Given the description of an element on the screen output the (x, y) to click on. 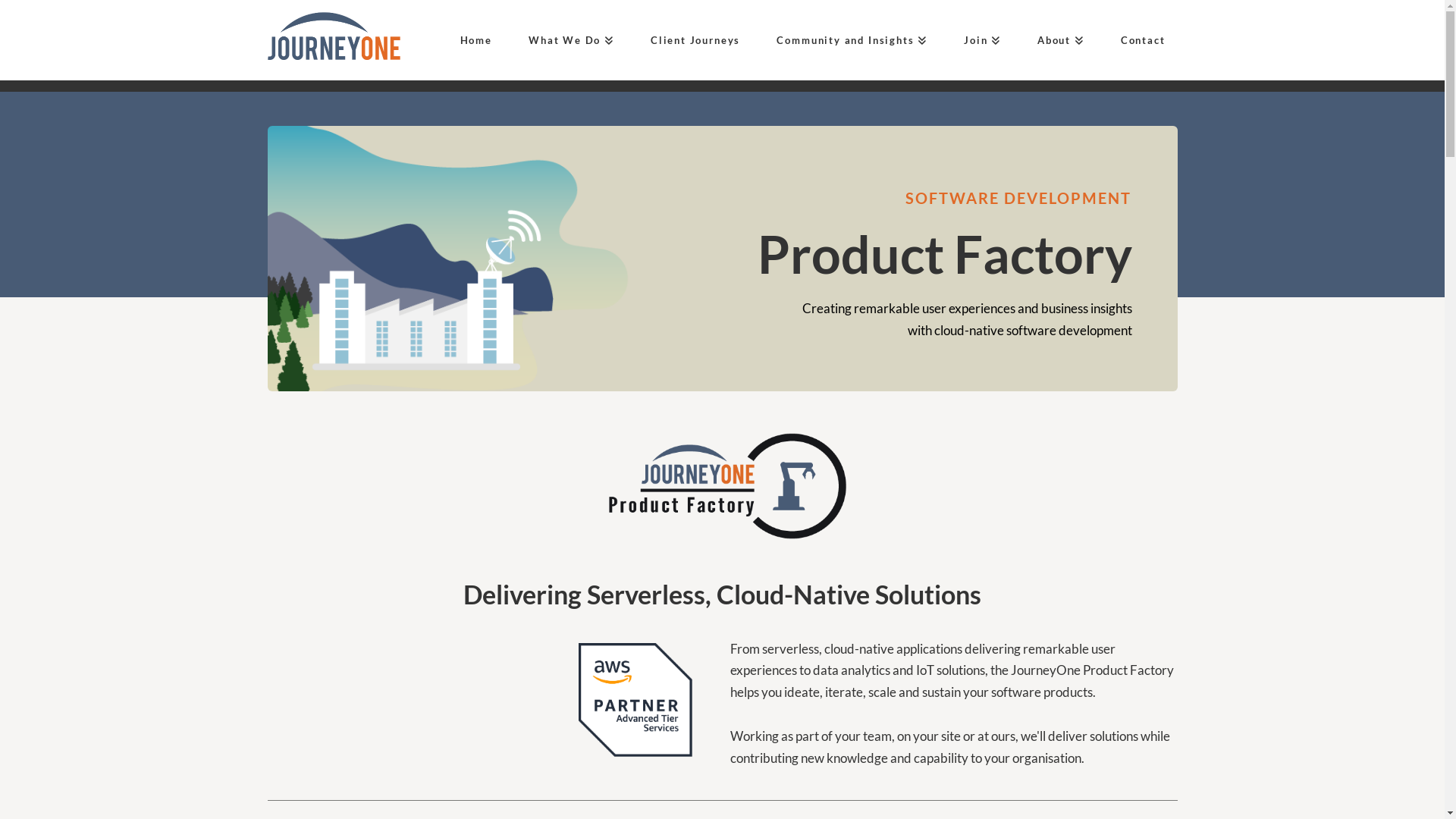
About Element type: text (1054, 40)
Home Element type: text (469, 40)
What We Do Element type: text (565, 40)
Client Journeys Element type: text (689, 40)
Community and Insights Element type: text (845, 40)
Contact Element type: text (1136, 40)
Vision to Value Element type: hover (332, 35)
Join Element type: text (976, 40)
